Given the description of an element on the screen output the (x, y) to click on. 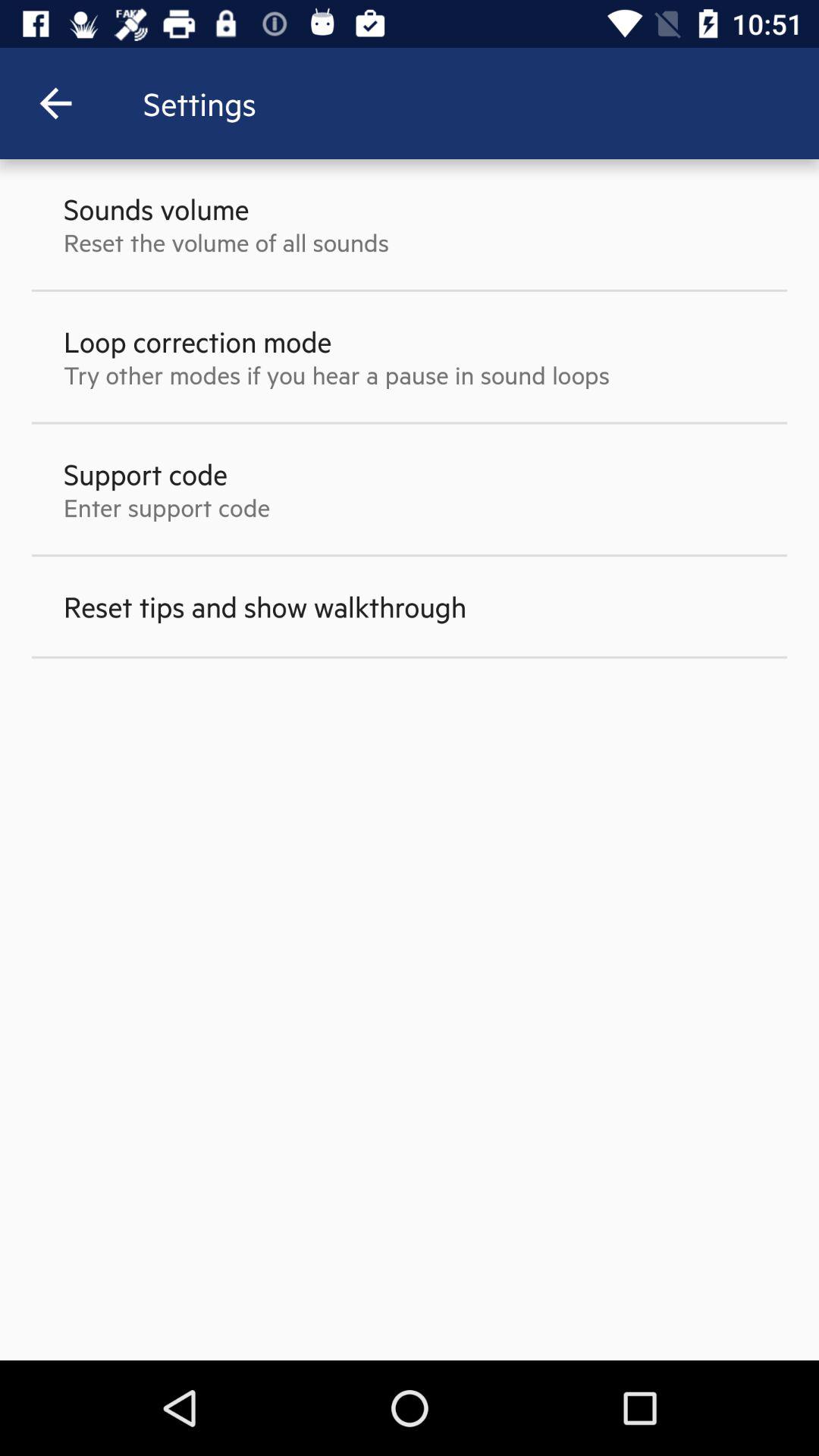
choose the reset the volume item (226, 241)
